Given the description of an element on the screen output the (x, y) to click on. 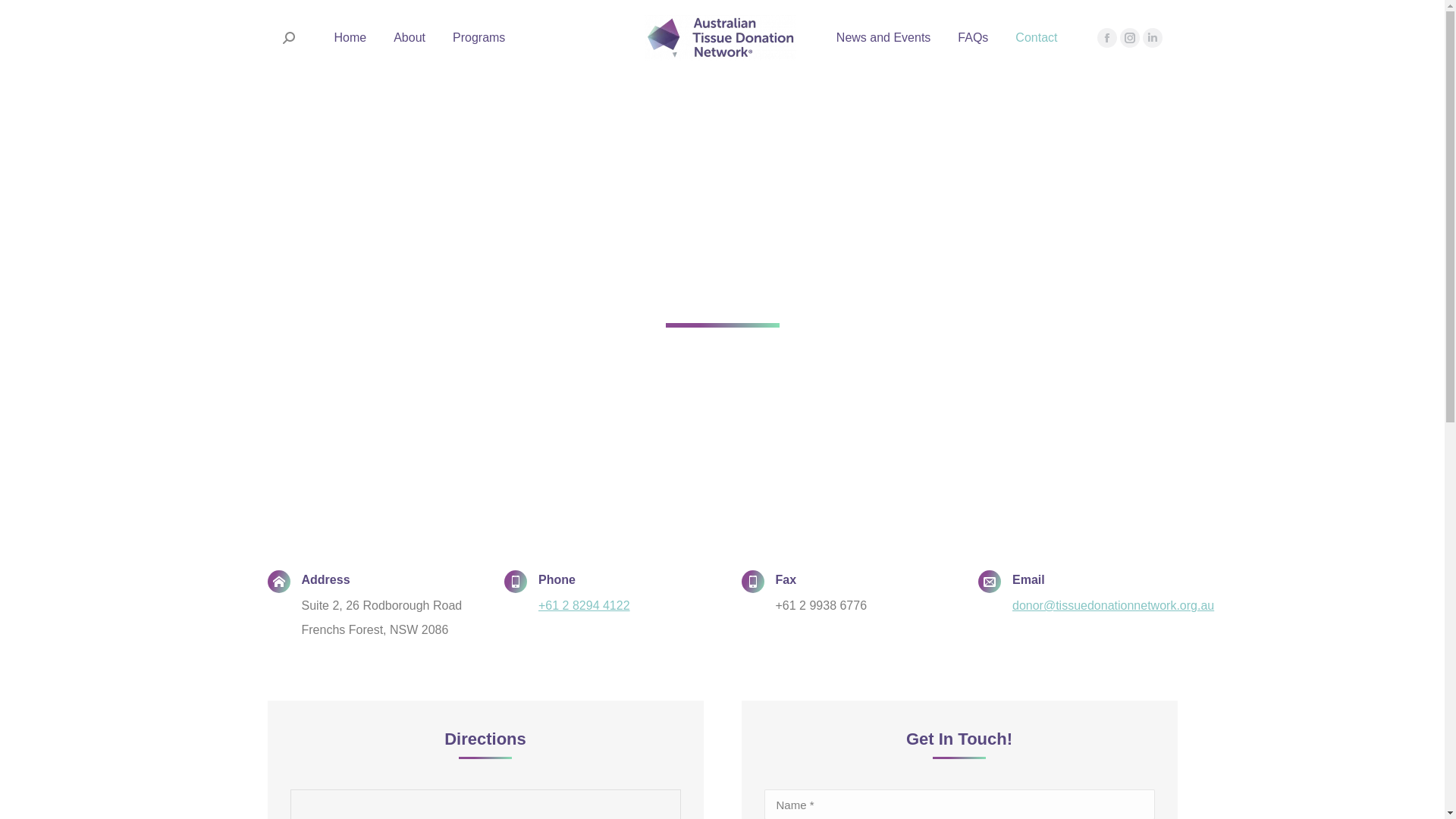
Home Element type: text (349, 37)
submit Element type: text (900, 716)
FAQs Element type: text (972, 37)
News and Events Element type: text (883, 37)
submit Element type: text (1002, 15)
About Element type: text (409, 37)
Go! Element type: text (23, 15)
Contact Element type: text (1036, 37)
Linkedin Element type: text (1151, 37)
donor@tissuedonationnetwork.org.au Element type: text (1113, 605)
+61 2 8294 4122 Element type: text (584, 605)
Facebook Element type: text (1106, 37)
Instagram Element type: text (1129, 37)
Programs Element type: text (478, 37)
